Given the description of an element on the screen output the (x, y) to click on. 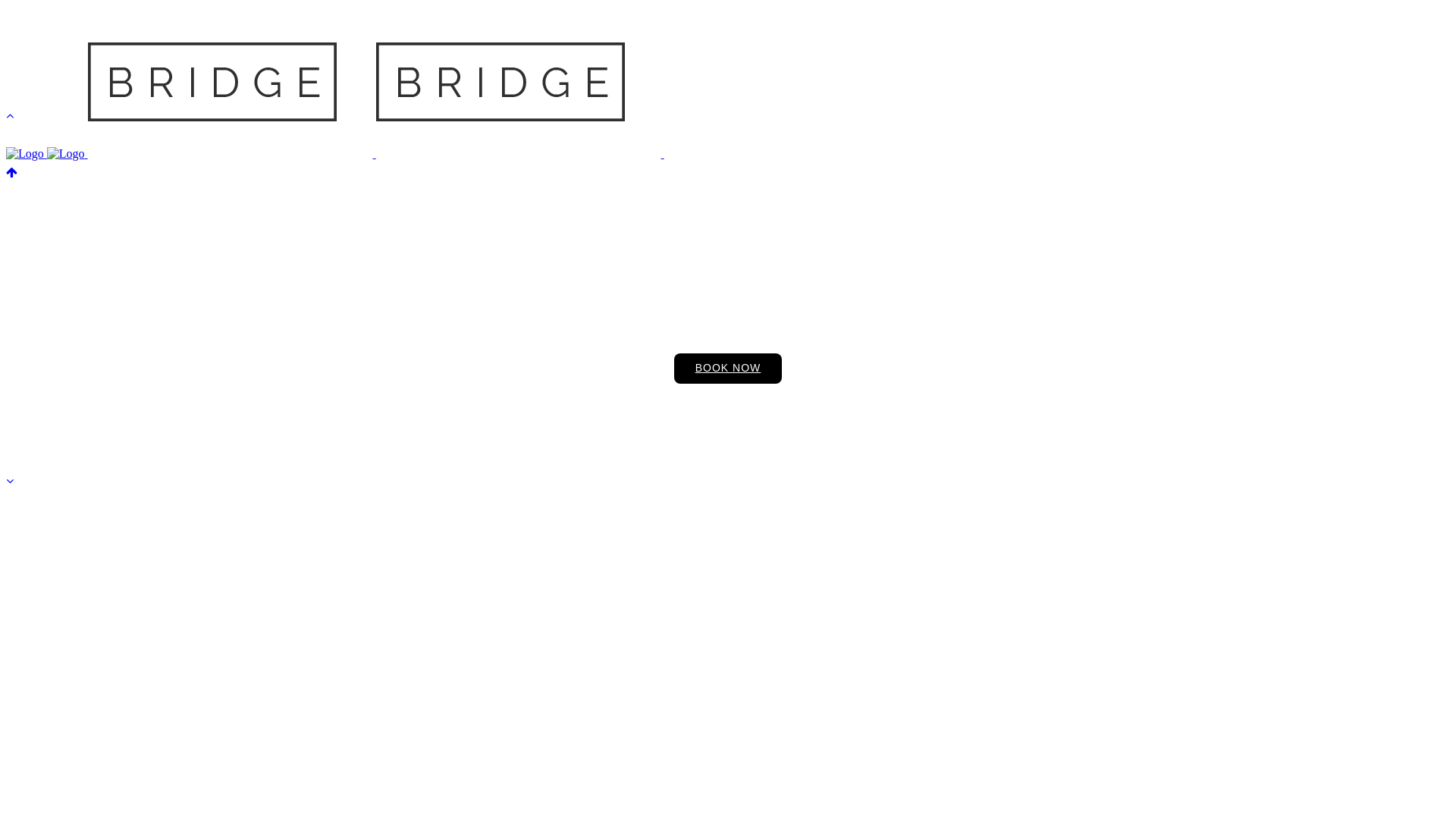
BOOK NOW Element type: text (728, 368)
